Given the description of an element on the screen output the (x, y) to click on. 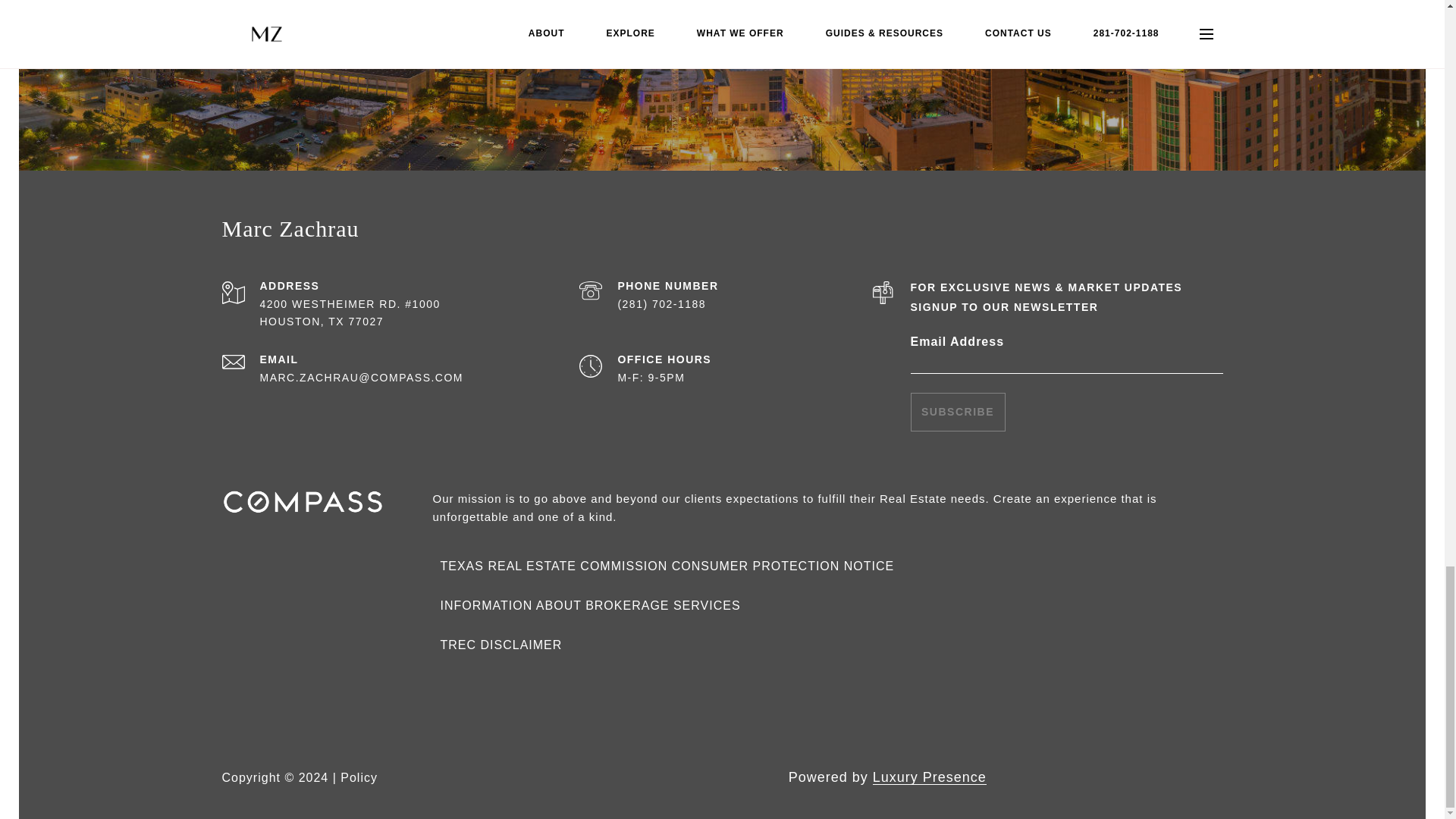
SUBSCRIBE (957, 412)
